Given the description of an element on the screen output the (x, y) to click on. 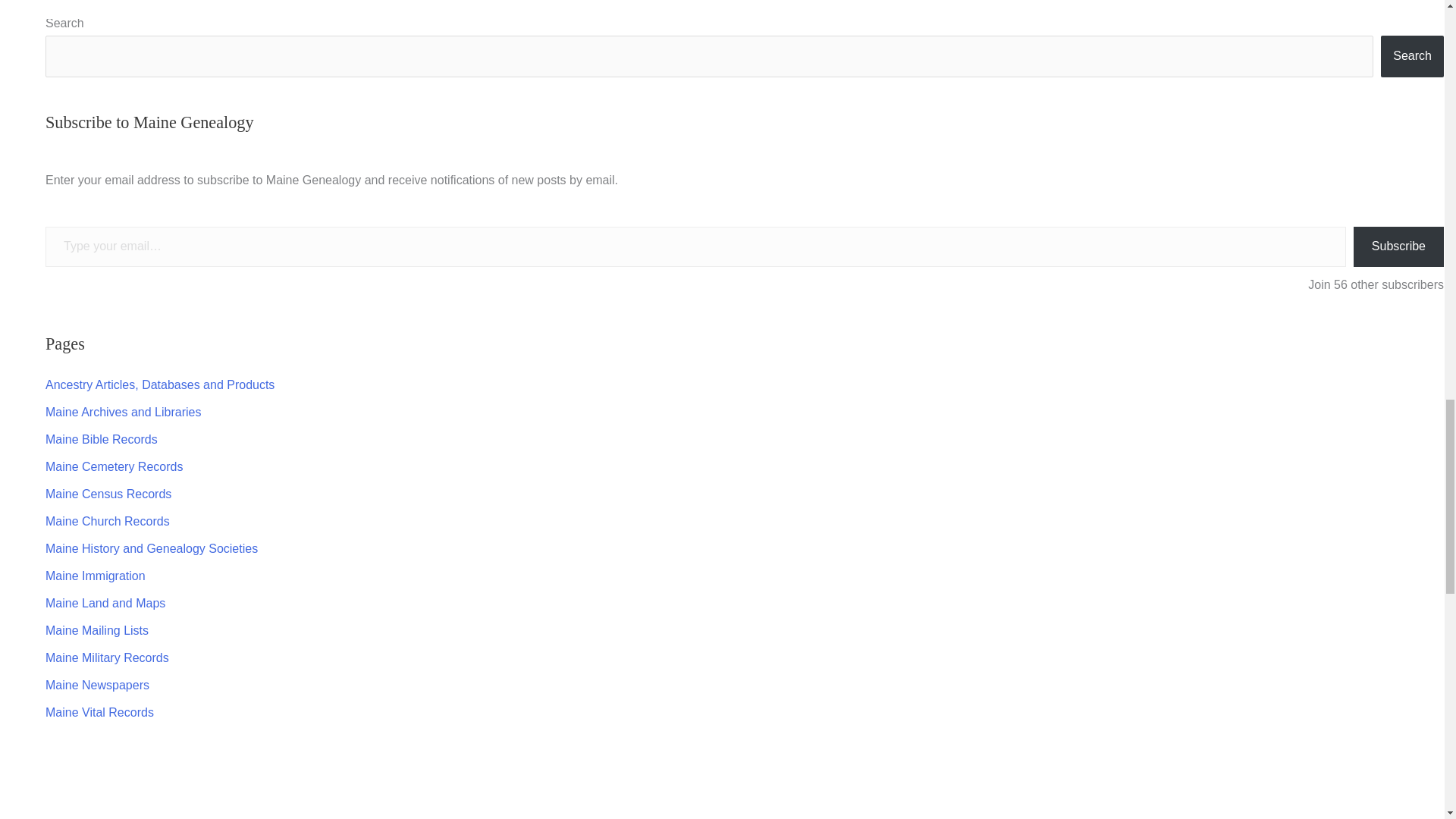
Maine History and Genealogy Societies (151, 548)
Maine Archives and Libraries (122, 411)
Maine Immigration (95, 575)
Ancestry Articles, Databases and Products (160, 384)
Maine Church Records (107, 521)
Maine Land and Maps (105, 603)
Maine Newspapers (97, 684)
Subscribe (1399, 246)
Search (1412, 56)
Maine Census Records (108, 493)
